Given the description of an element on the screen output the (x, y) to click on. 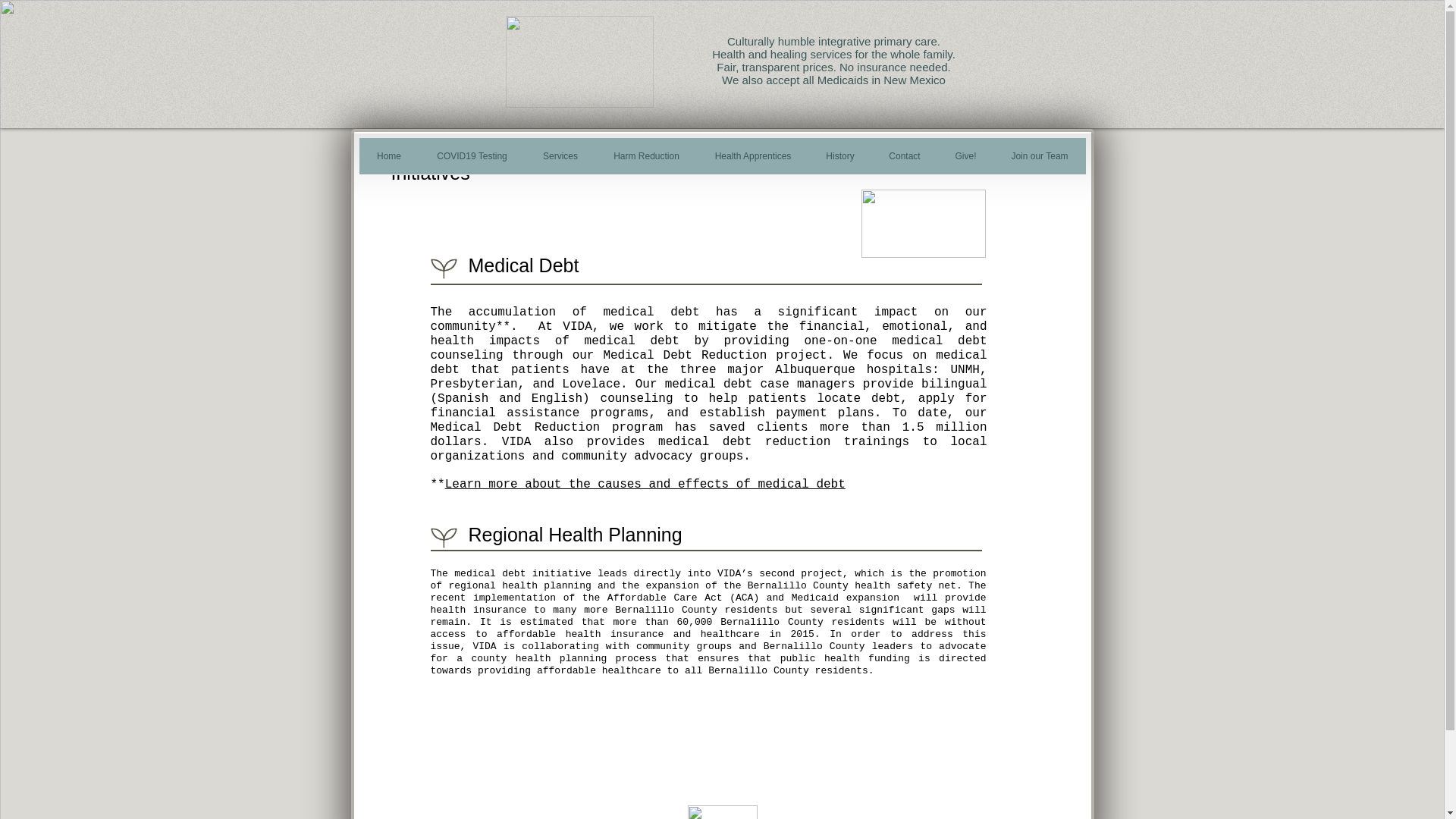
COVID19 Testing (471, 161)
Contact (904, 161)
Edited Image 2014-4-8-14:43:56 (722, 812)
Join our Team (1038, 161)
History (839, 161)
Home (389, 161)
Health Apprentices (753, 161)
Harm Reduction (646, 161)
Learn more about the causes and effects of medical debt (645, 484)
Give! (964, 161)
Services (559, 161)
